Given the description of an element on the screen output the (x, y) to click on. 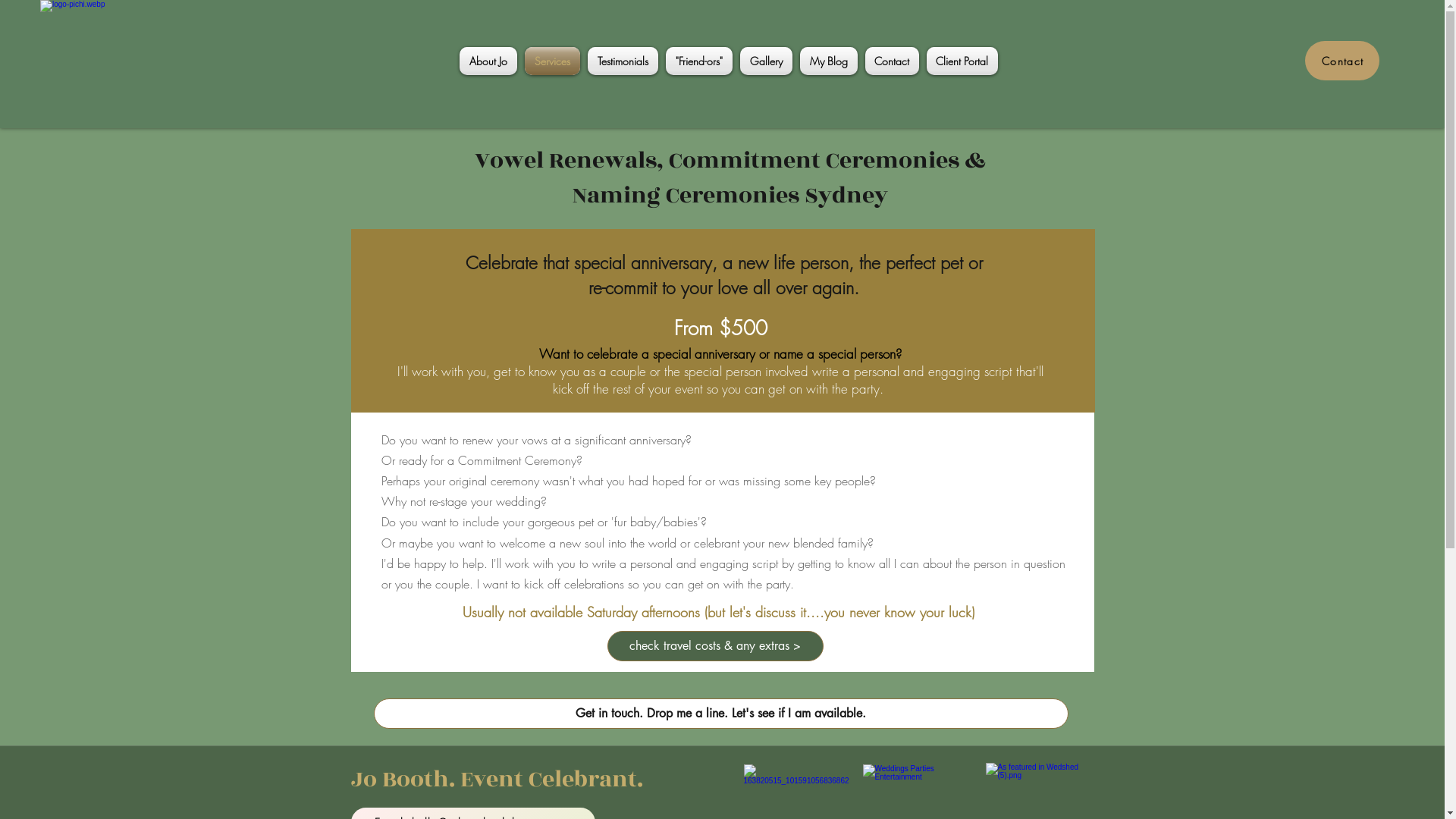
Get in touch. Drop me a line. Let's see if I am available. Element type: text (720, 713)
Testimonials Element type: text (622, 61)
Jo Booth. Event Celebrant. Element type: text (496, 779)
Client Portal Element type: text (959, 61)
Services Element type: text (551, 61)
About Jo Element type: text (489, 61)
My Blog Element type: text (828, 61)
Gallery Element type: text (765, 61)
Contact Element type: text (891, 61)
"Friend-ors" Element type: text (698, 61)
check travel costs & any extras > Element type: text (714, 645)
Contact Element type: text (1342, 60)
